Given the description of an element on the screen output the (x, y) to click on. 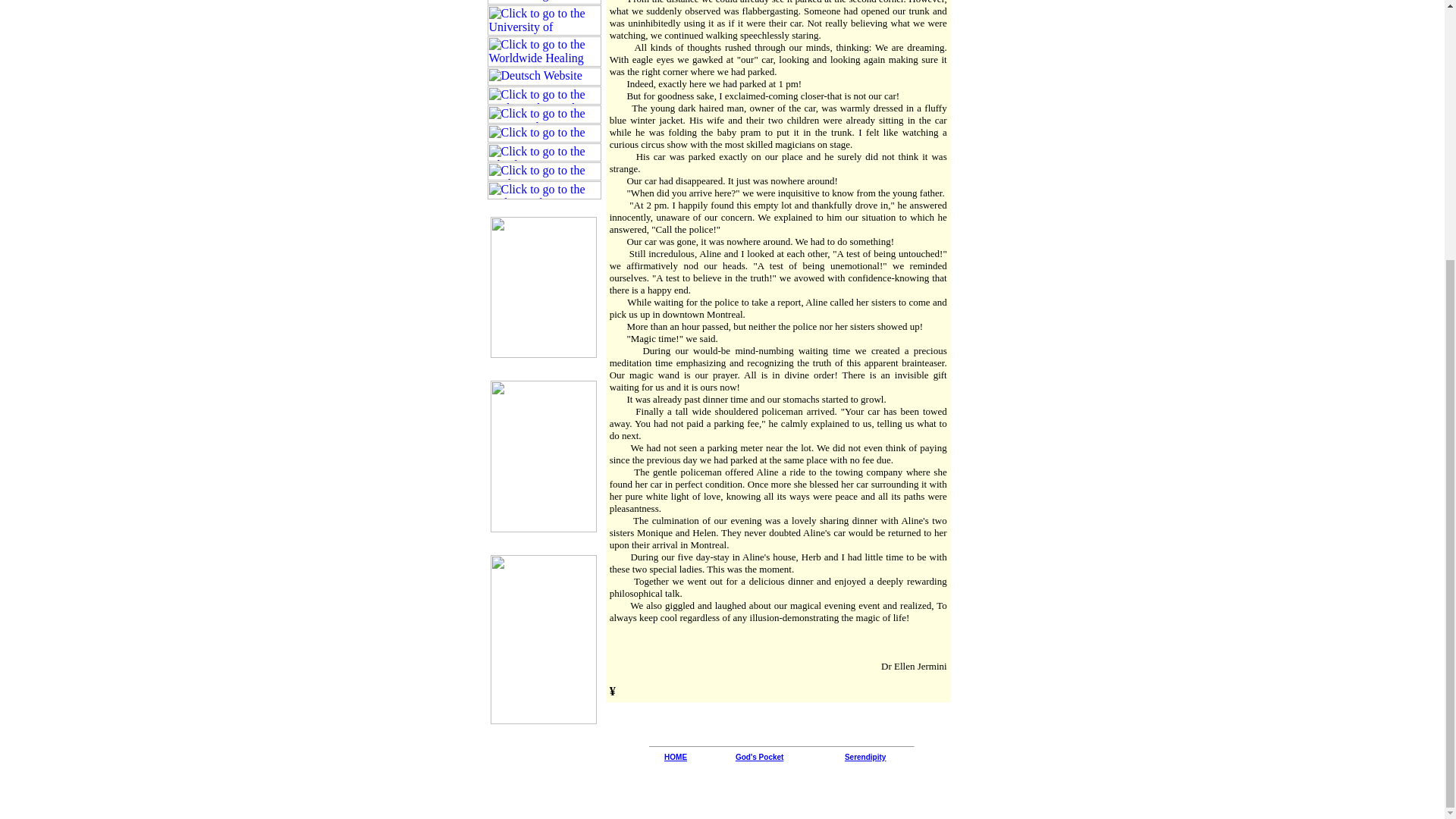
Serendipity (864, 755)
HOME (675, 756)
God's Pocket (759, 755)
